Given the description of an element on the screen output the (x, y) to click on. 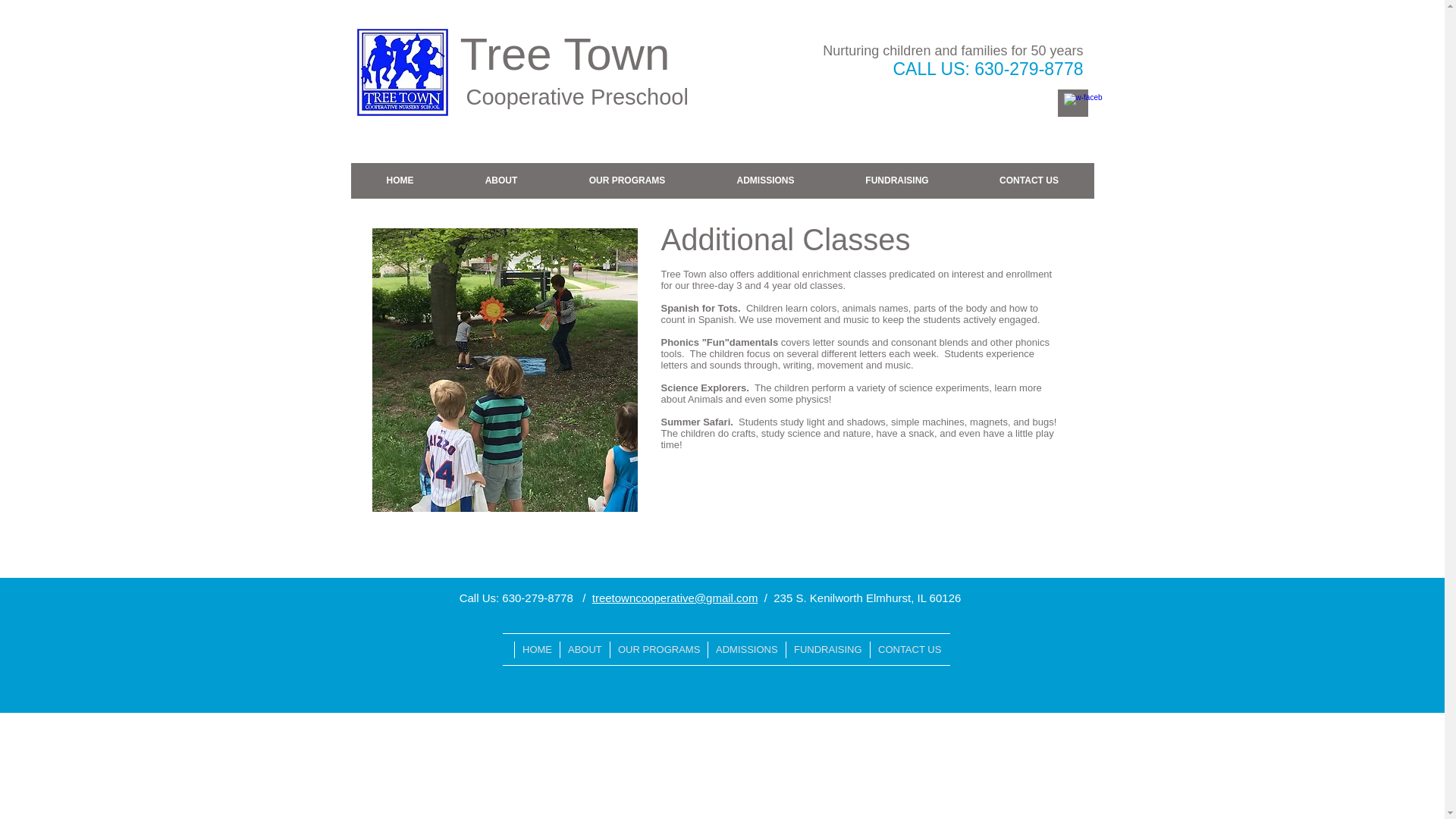
ABOUT (500, 180)
OUR PROGRAMS (627, 180)
FUNDRAISING (896, 180)
ABOUT (584, 649)
Logo Navy no dielines copy.jpg (401, 71)
CONTACT US (909, 649)
ADMISSIONS (746, 649)
HOME (536, 649)
ADMISSIONS (764, 180)
CONTACT US (1028, 180)
